Given the description of an element on the screen output the (x, y) to click on. 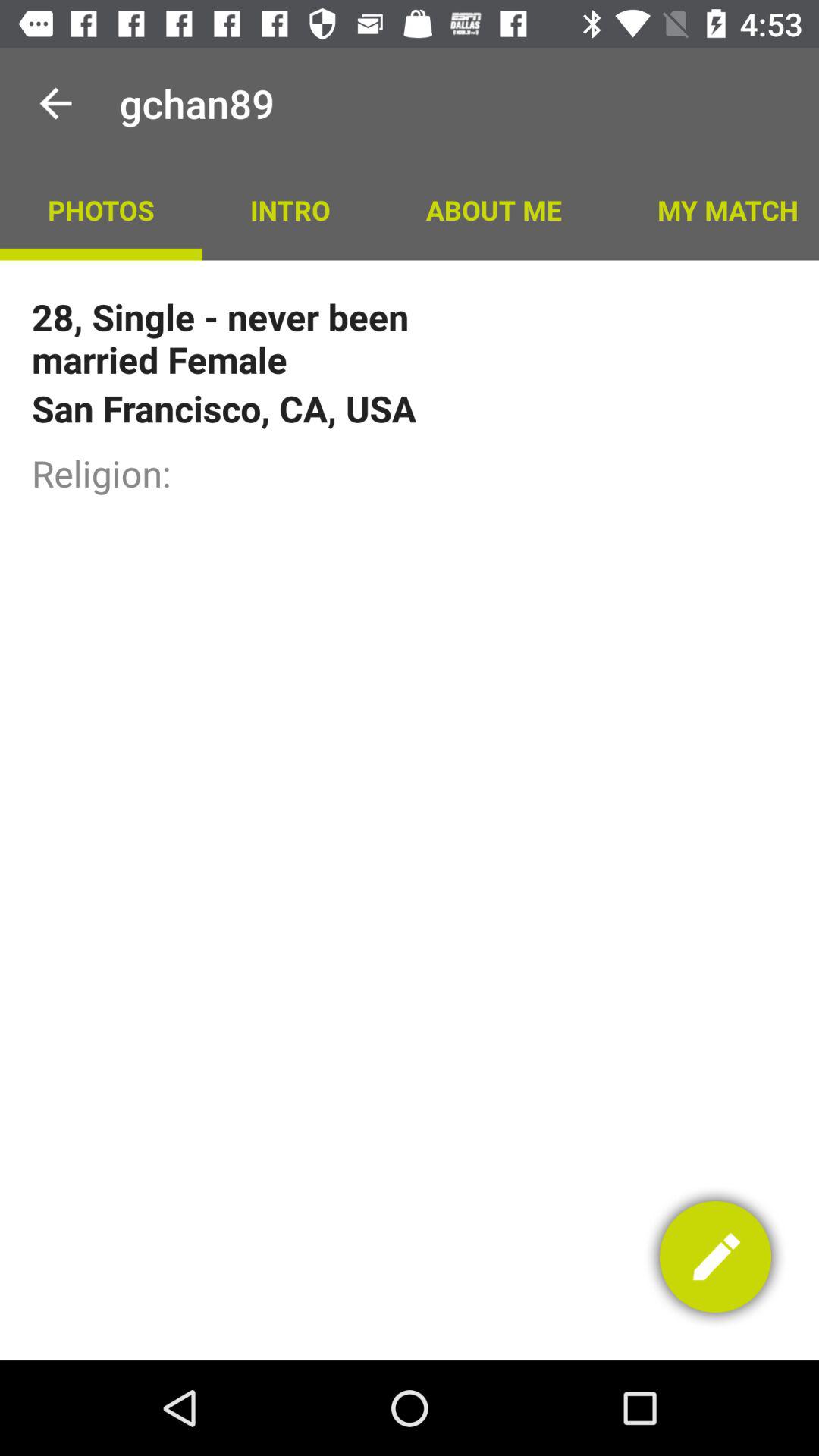
select the edit option (715, 1256)
